Given the description of an element on the screen output the (x, y) to click on. 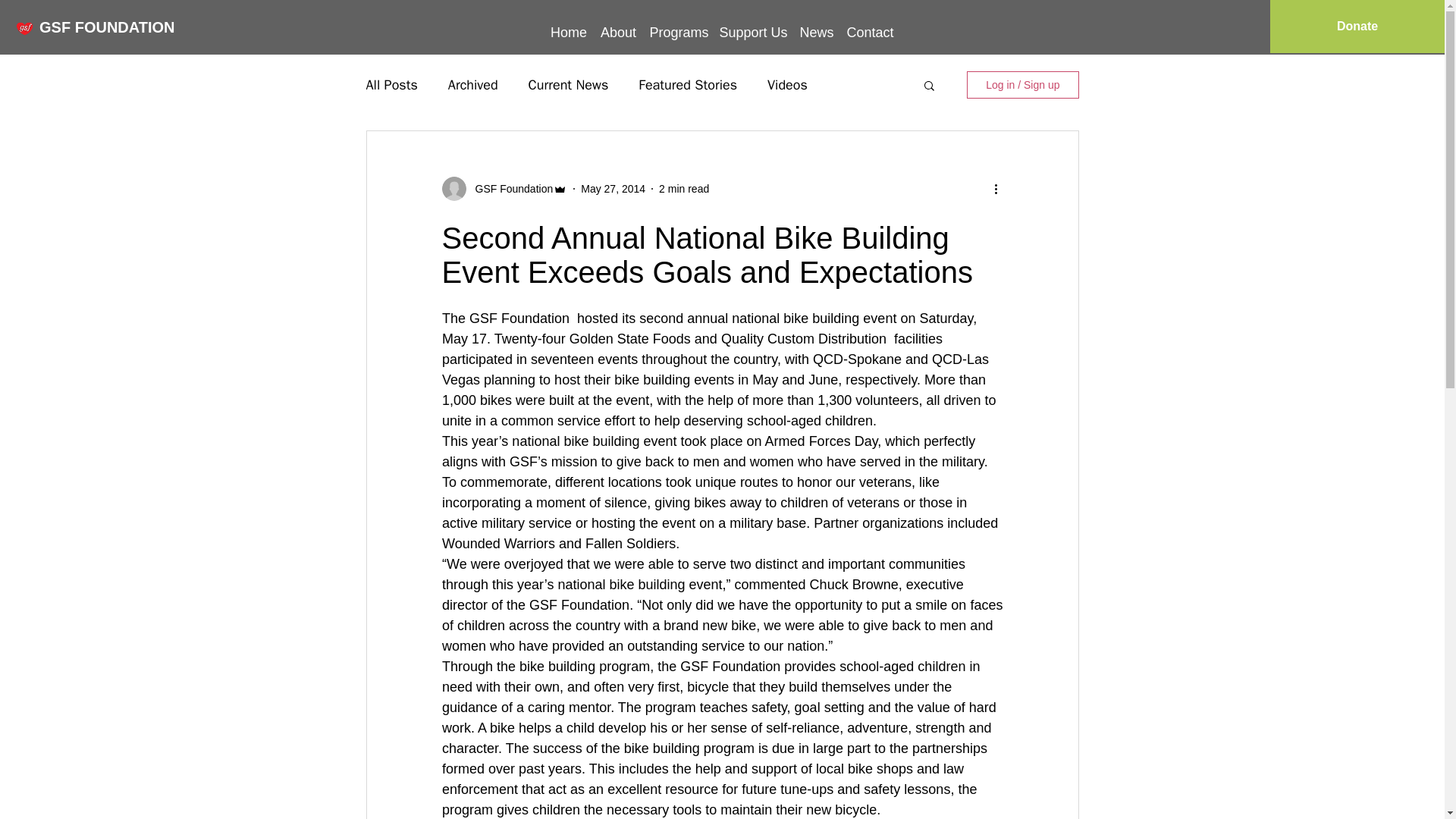
Support Us (753, 26)
Contact (870, 26)
Videos (787, 85)
May 27, 2014 (612, 187)
GSF Foundation (509, 188)
2 min read (684, 187)
Programs (678, 26)
Home (569, 26)
GSF FOUNDATION (106, 26)
Current News (568, 85)
